Given the description of an element on the screen output the (x, y) to click on. 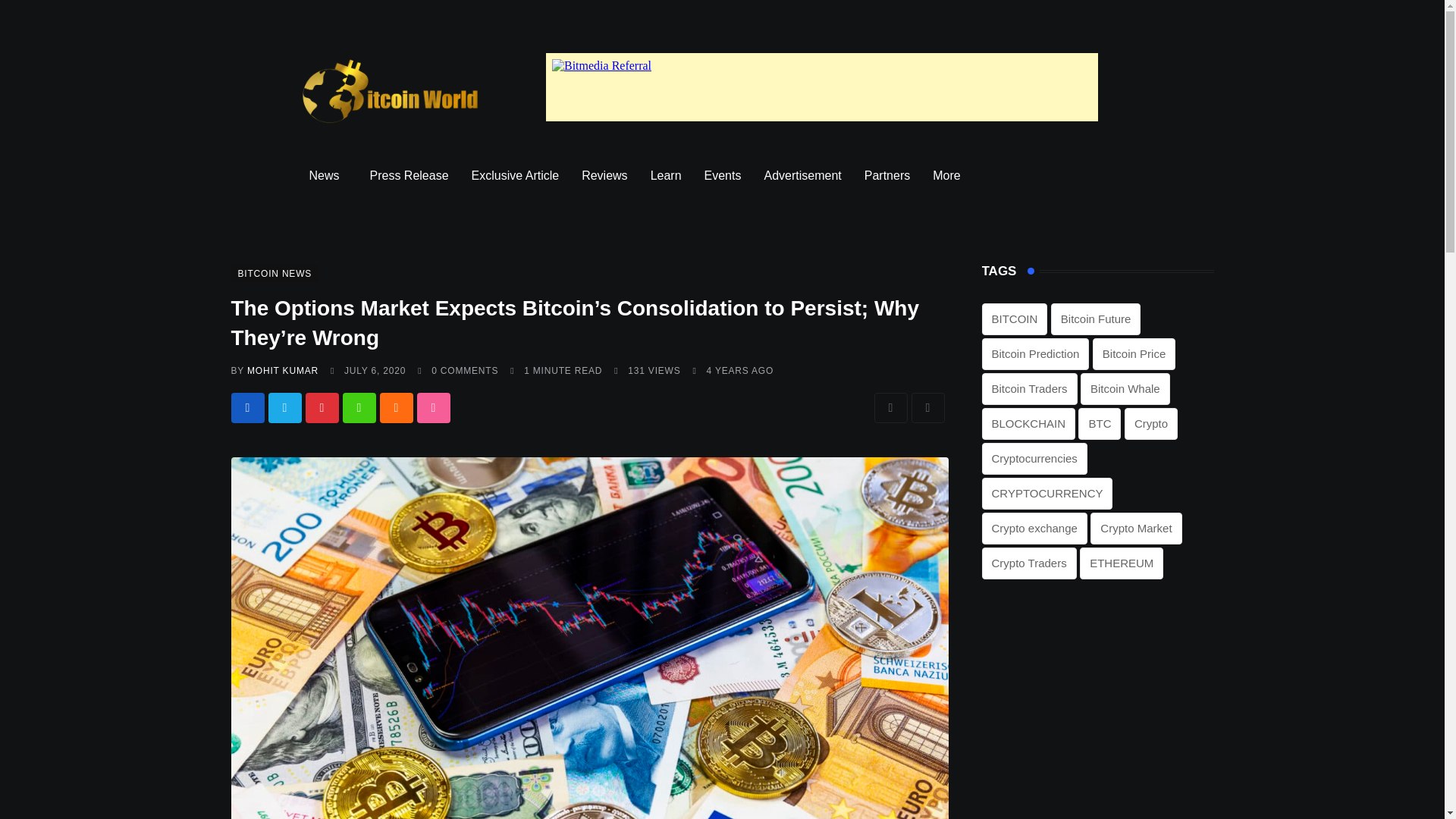
More (949, 175)
Press Release (409, 175)
Events (722, 175)
MOHIT KUMAR (282, 370)
Partners (887, 175)
Reviews (604, 175)
Exclusive Article (515, 175)
BITCOIN NEWS (274, 272)
Advertisement (801, 175)
Posts by Mohit Kumar (282, 370)
